Given the description of an element on the screen output the (x, y) to click on. 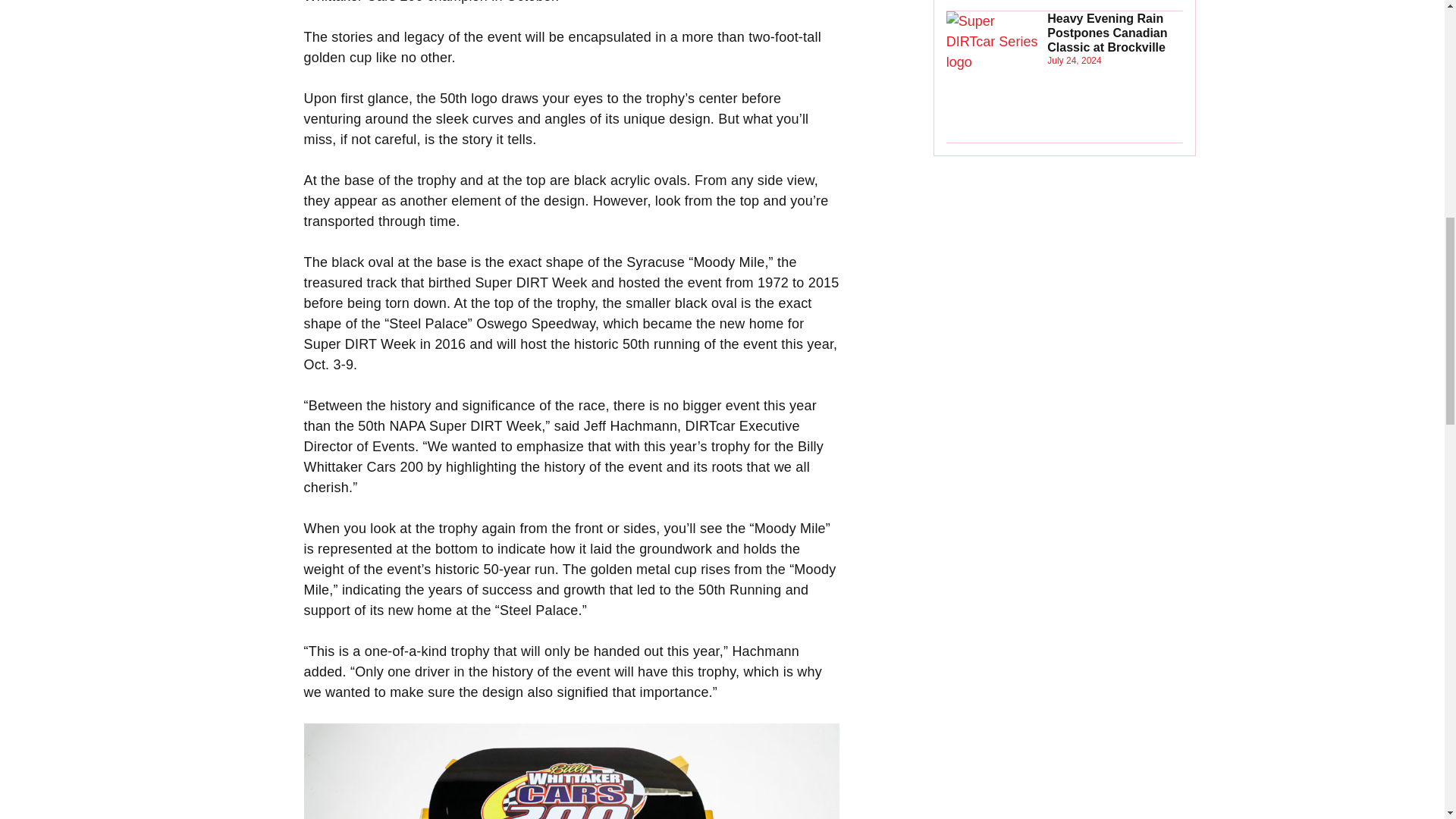
Scroll back to top (1406, 720)
